Given the description of an element on the screen output the (x, y) to click on. 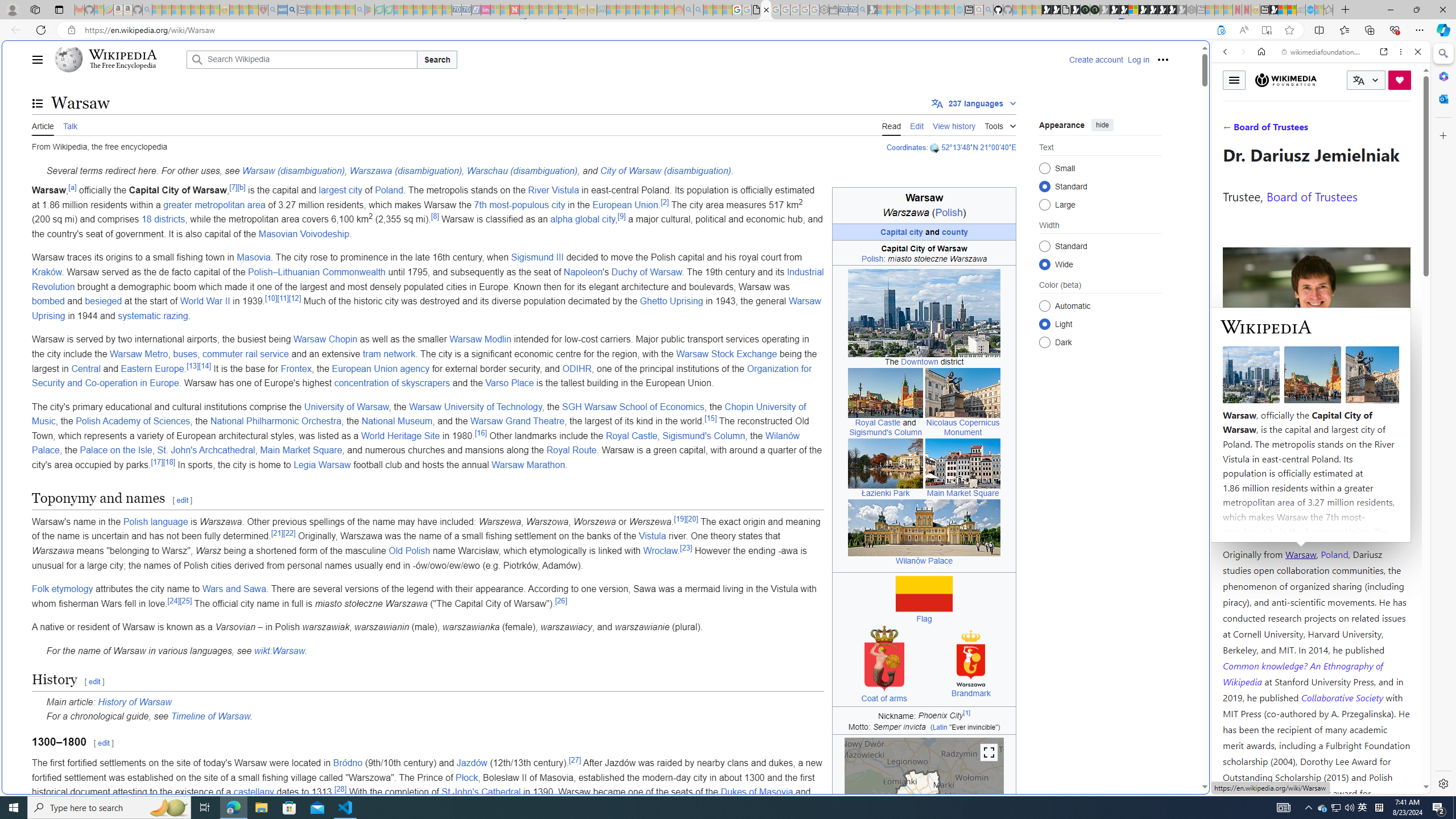
Warsaw Grand Theatre (517, 421)
Tabs you've opened (885, 151)
Article (42, 124)
[12] (294, 297)
Read (890, 124)
[25] (185, 600)
